Given the description of an element on the screen output the (x, y) to click on. 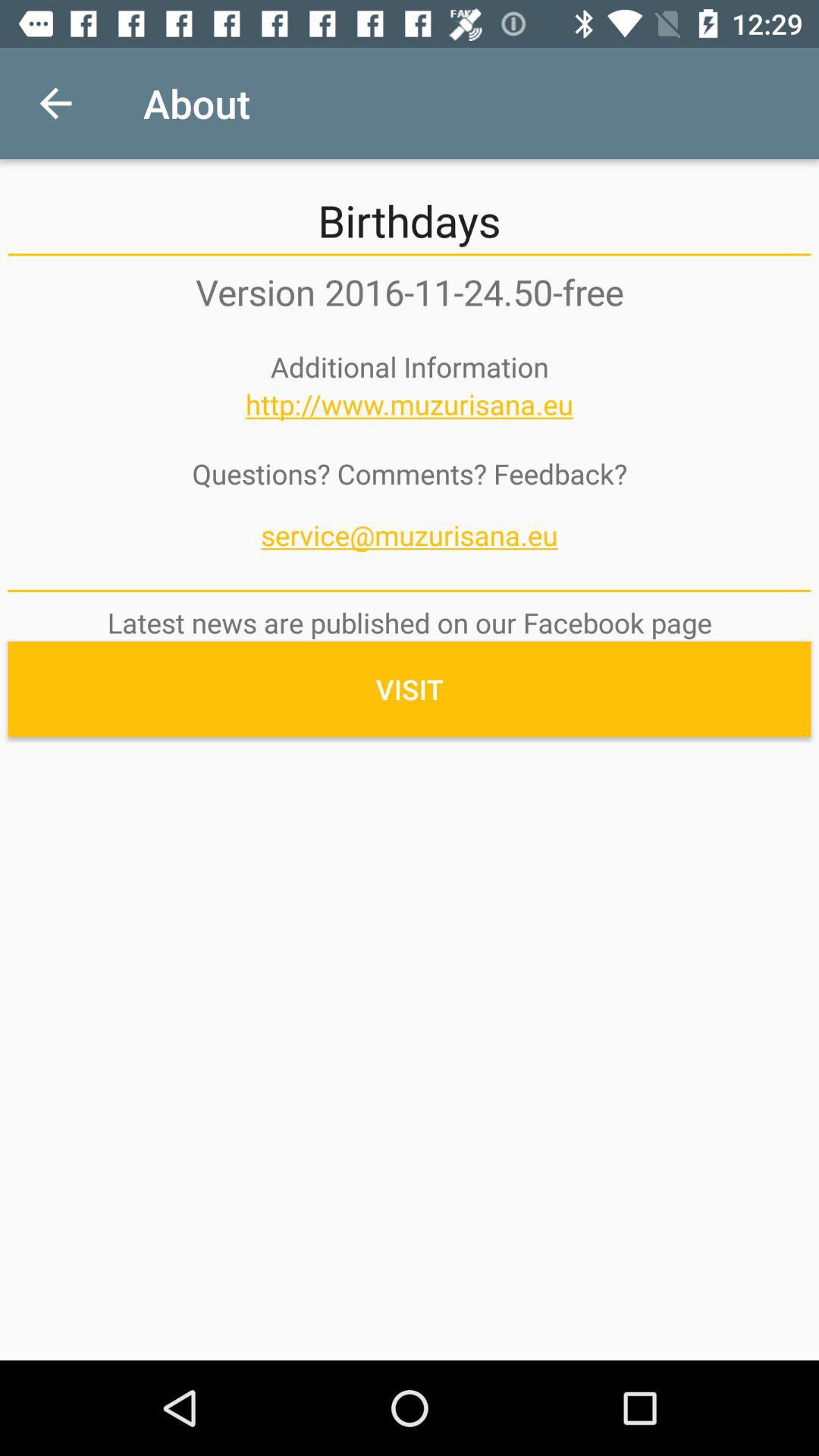
press the http www muzurisana icon (409, 404)
